Given the description of an element on the screen output the (x, y) to click on. 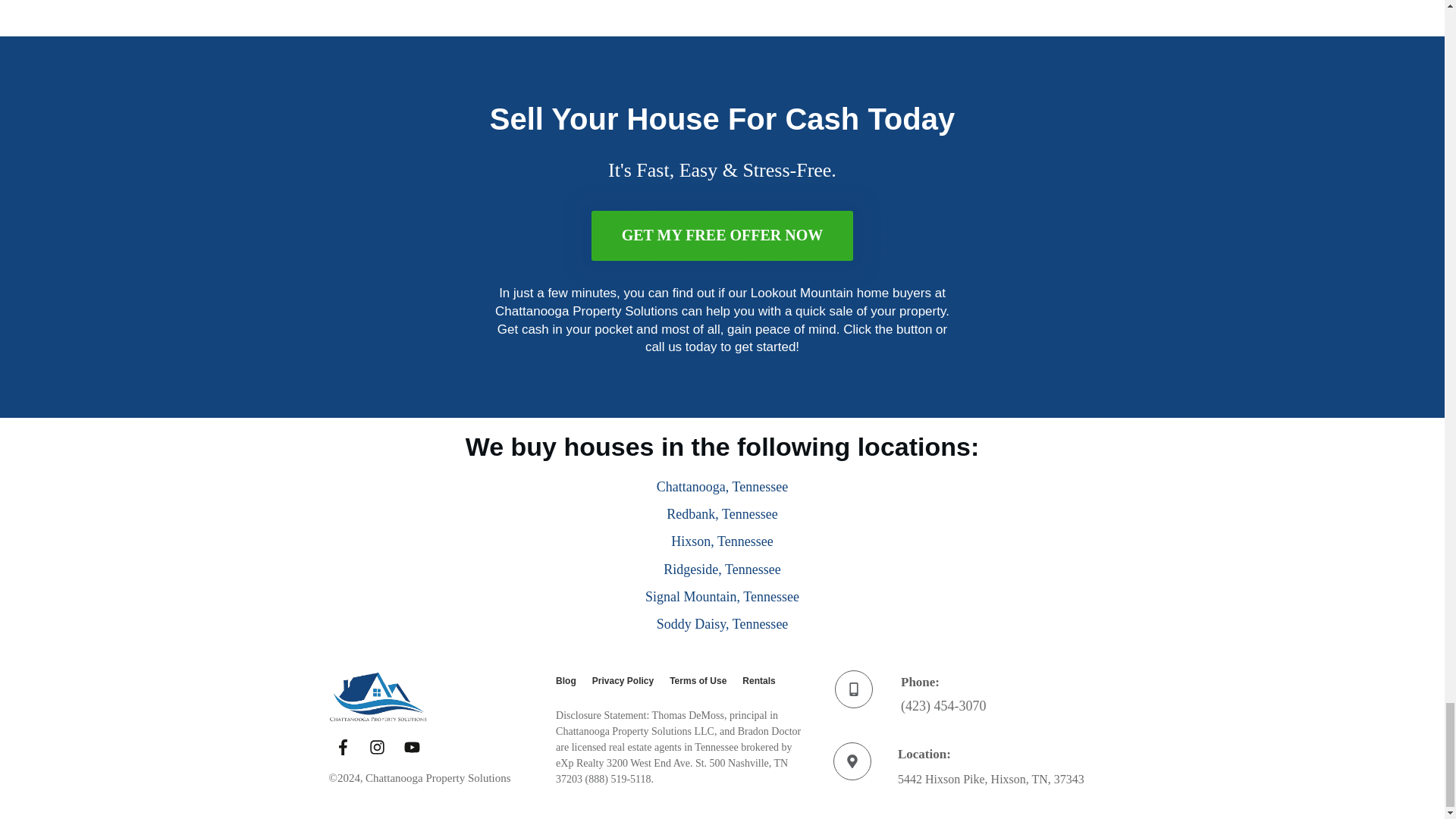
Rentals (758, 680)
Redbank, Tennessee (721, 513)
GET MY FREE OFFER NOW (722, 235)
Hixson, Tennessee (722, 540)
Terms of Use (697, 680)
Privacy Policy (622, 680)
Signal Mountain, Tennessee (722, 596)
Ridgeside, Tennessee (721, 569)
Blog (566, 680)
Chattanooga, Tennessee (721, 486)
Soddy Daisy, Tennessee (722, 623)
